Given the description of an element on the screen output the (x, y) to click on. 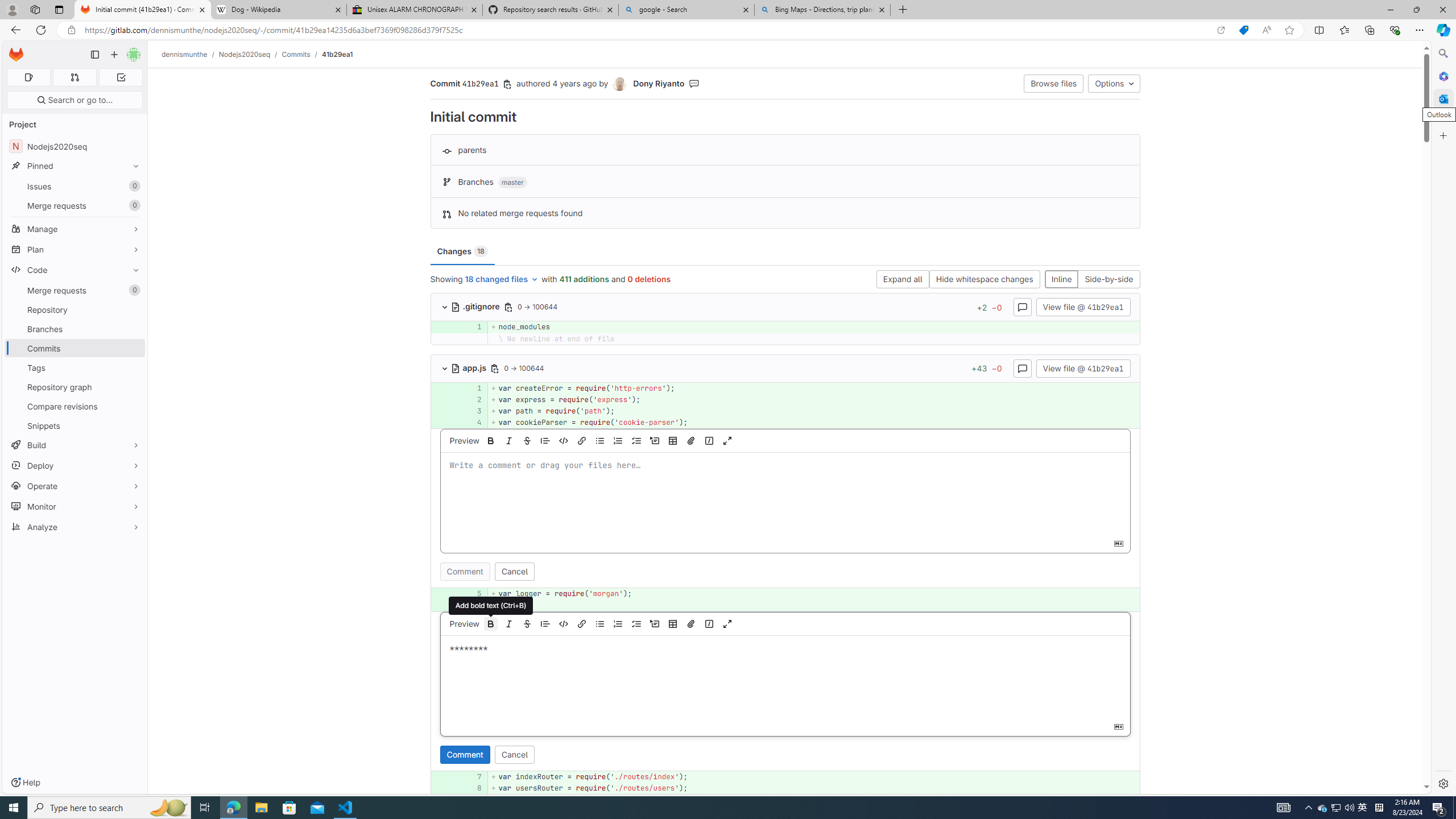
41b29ea1 (337, 53)
Plan (74, 248)
Insert code (563, 623)
3 (471, 410)
Code (74, 269)
Options (1113, 83)
Build (74, 444)
AutomationID: 4a68969ef8e858229267b842dedf42ab5dde4d50_0_2 (785, 399)
Operate (74, 485)
+ var usersRouter = require('./routes/users');  (813, 788)
Add a comment to this line (430, 788)
Pin Snippets (132, 425)
